Given the description of an element on the screen output the (x, y) to click on. 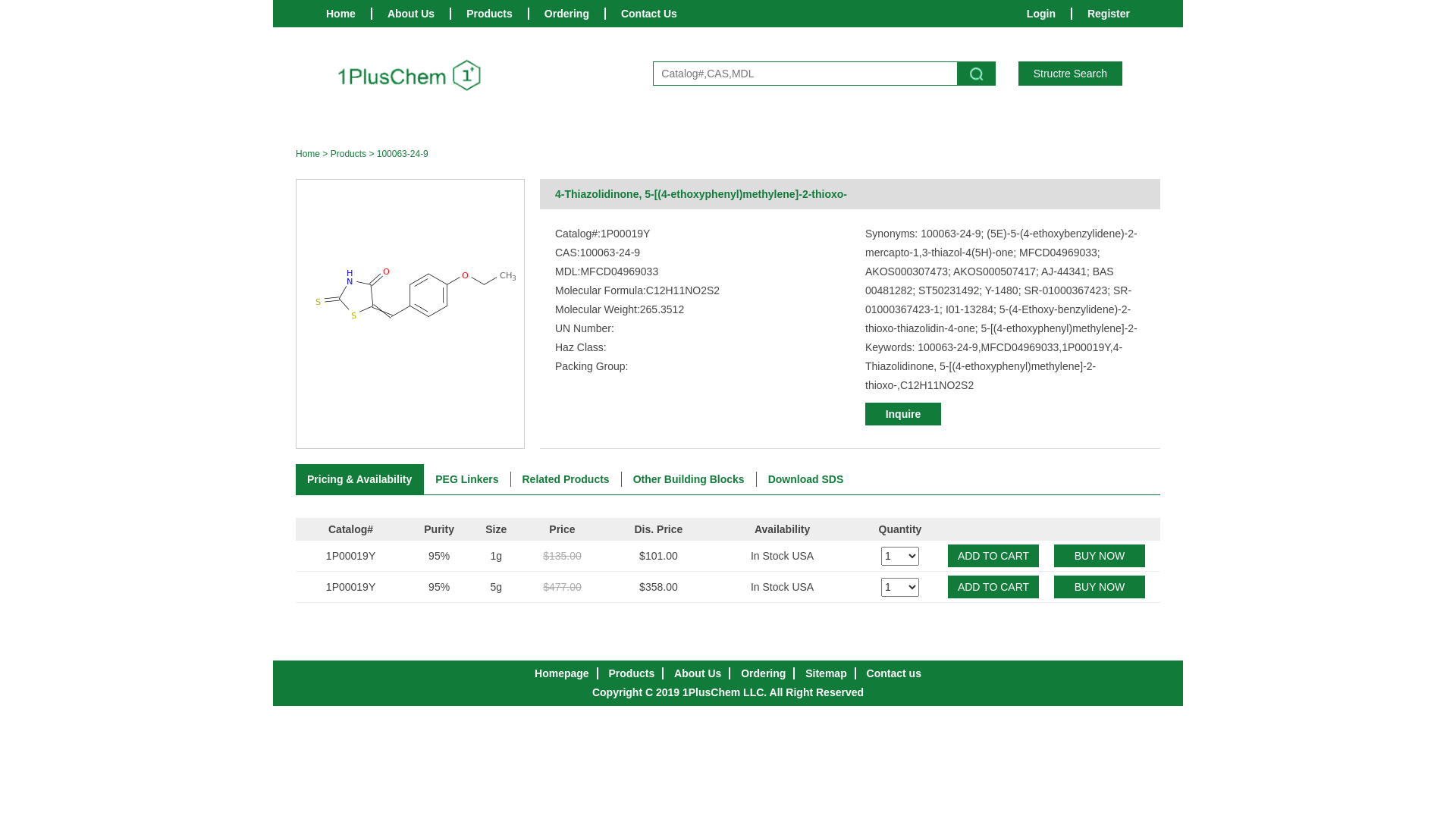
BUY NOW Element type: text (1099, 555)
Login Element type: text (1040, 13)
ADD TO CART Element type: text (992, 555)
ADD TO CART Element type: text (992, 586)
Register Element type: text (1108, 13)
Homepage Element type: text (561, 673)
Inquire Element type: text (903, 413)
Products Element type: text (489, 13)
Other Building Blocks Element type: text (688, 478)
Structre Search Element type: text (1070, 73)
About Us Element type: text (410, 13)
BUY NOW Element type: text (1099, 586)
About Us Element type: text (697, 673)
Home Element type: text (307, 153)
Products Element type: text (348, 153)
Ordering Element type: text (566, 13)
Contact us Element type: text (893, 673)
Download SDS Element type: text (805, 478)
Home Element type: text (340, 13)
Sitemap Element type: text (825, 673)
Contact Us Element type: text (649, 13)
PEG Linkers Element type: text (466, 478)
Products Element type: text (631, 673)
Ordering Element type: text (762, 673)
Related Products Element type: text (566, 478)
Pricing & Availability Element type: text (359, 478)
